Given the description of an element on the screen output the (x, y) to click on. 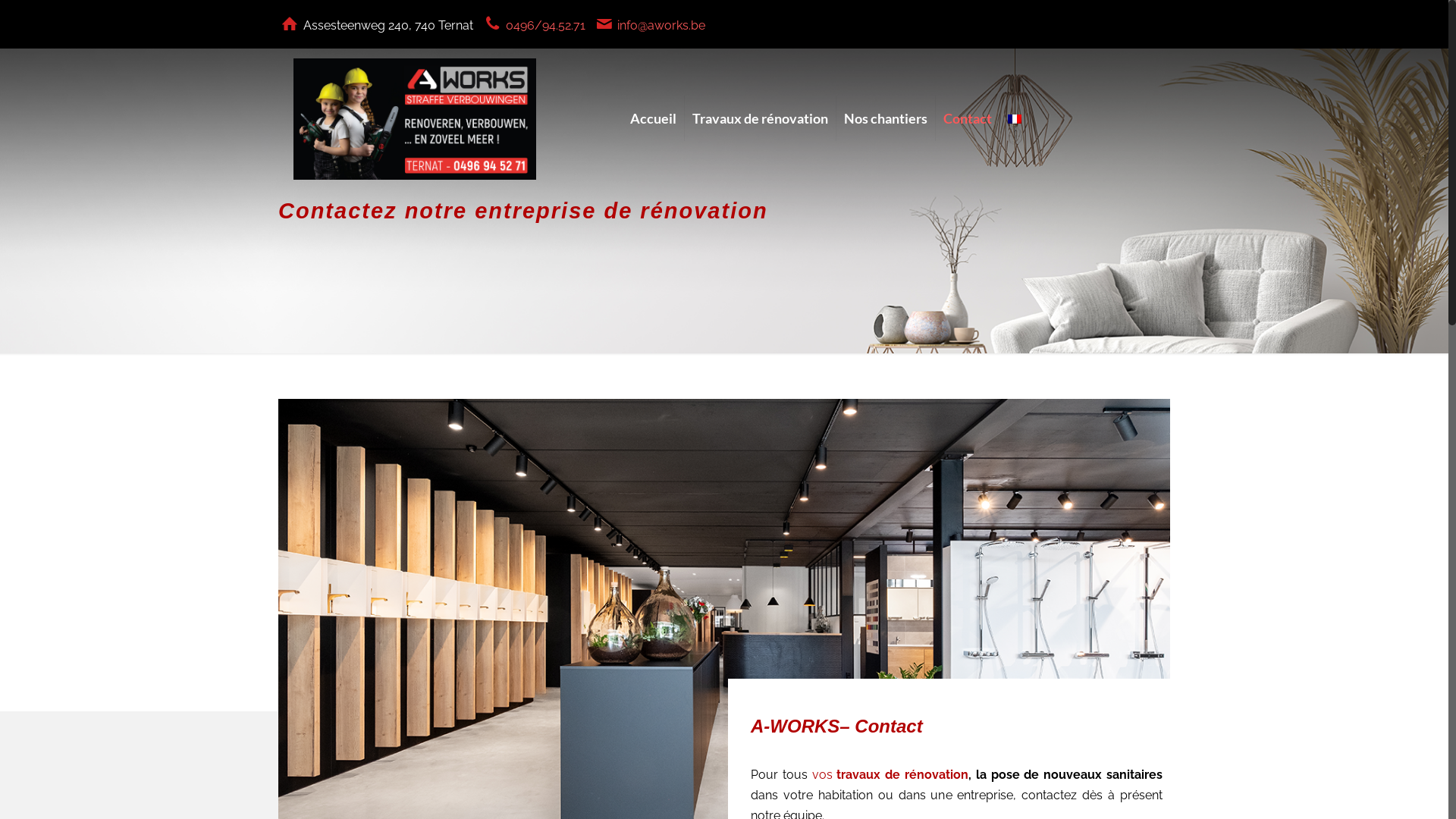
AWORKS SPRL Element type: hover (414, 118)
info@aworks.be Element type: text (661, 25)
Contact Element type: text (967, 93)
Accueil Element type: text (653, 93)
Nos chantiers Element type: text (885, 93)
0496/94.52.71 Element type: text (545, 25)
